Given the description of an element on the screen output the (x, y) to click on. 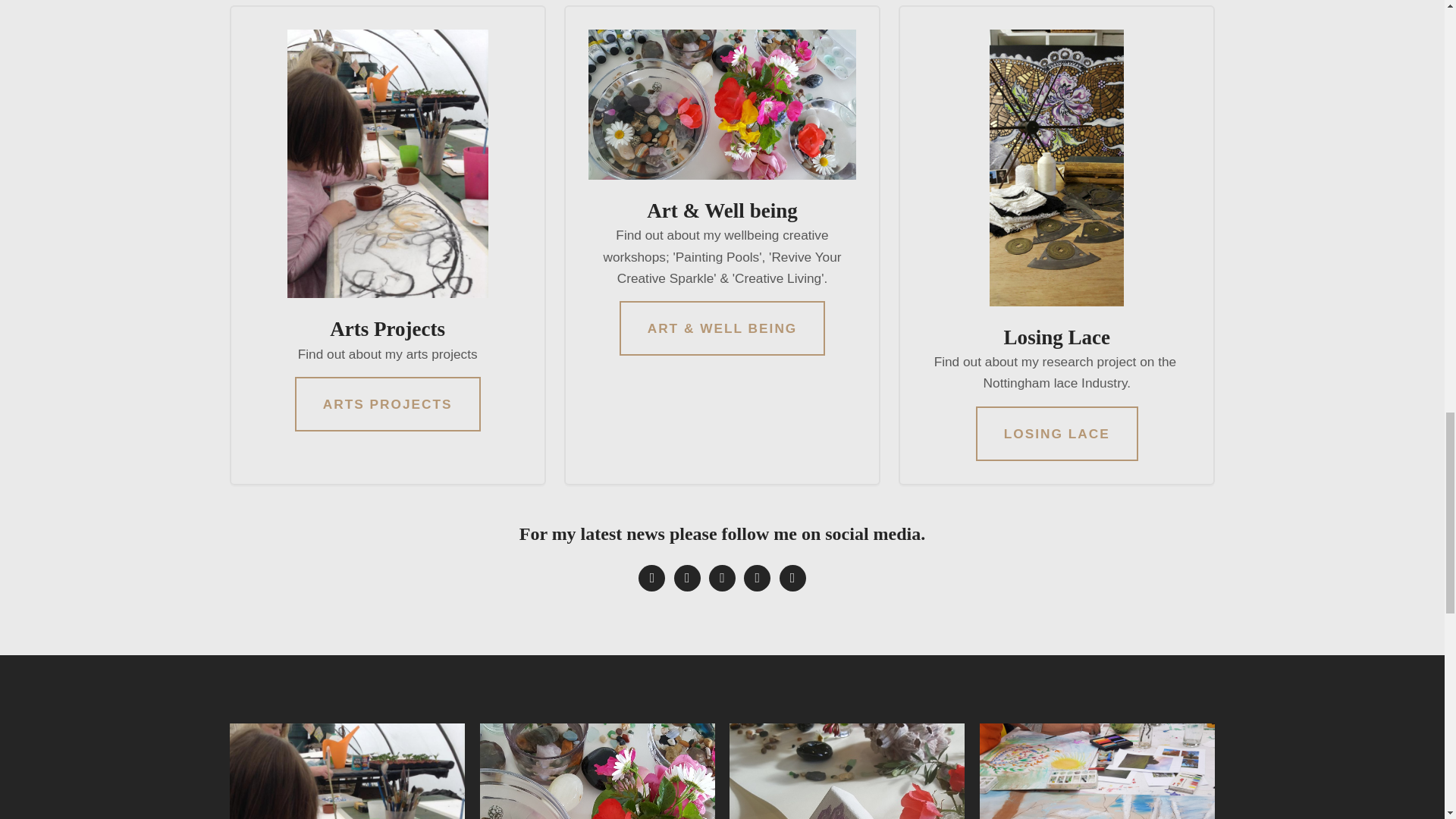
LOSING LACE (1056, 433)
ARTS PROJECTS (387, 403)
